Given the description of an element on the screen output the (x, y) to click on. 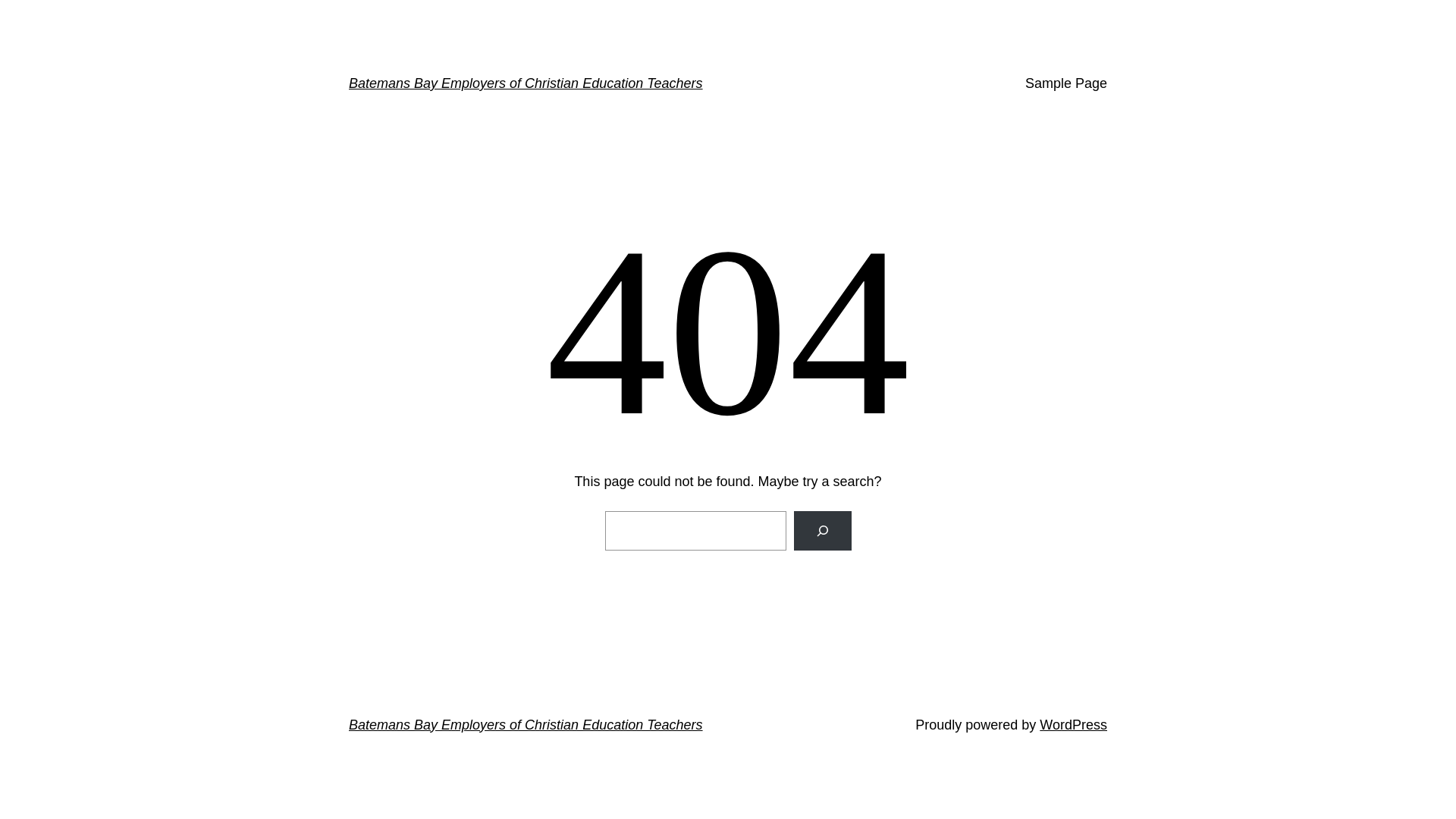
Batemans Bay Employers of Christian Education Teachers Element type: text (525, 724)
Batemans Bay Employers of Christian Education Teachers Element type: text (525, 83)
Sample Page Element type: text (1066, 83)
WordPress Element type: text (1073, 724)
